Given the description of an element on the screen output the (x, y) to click on. 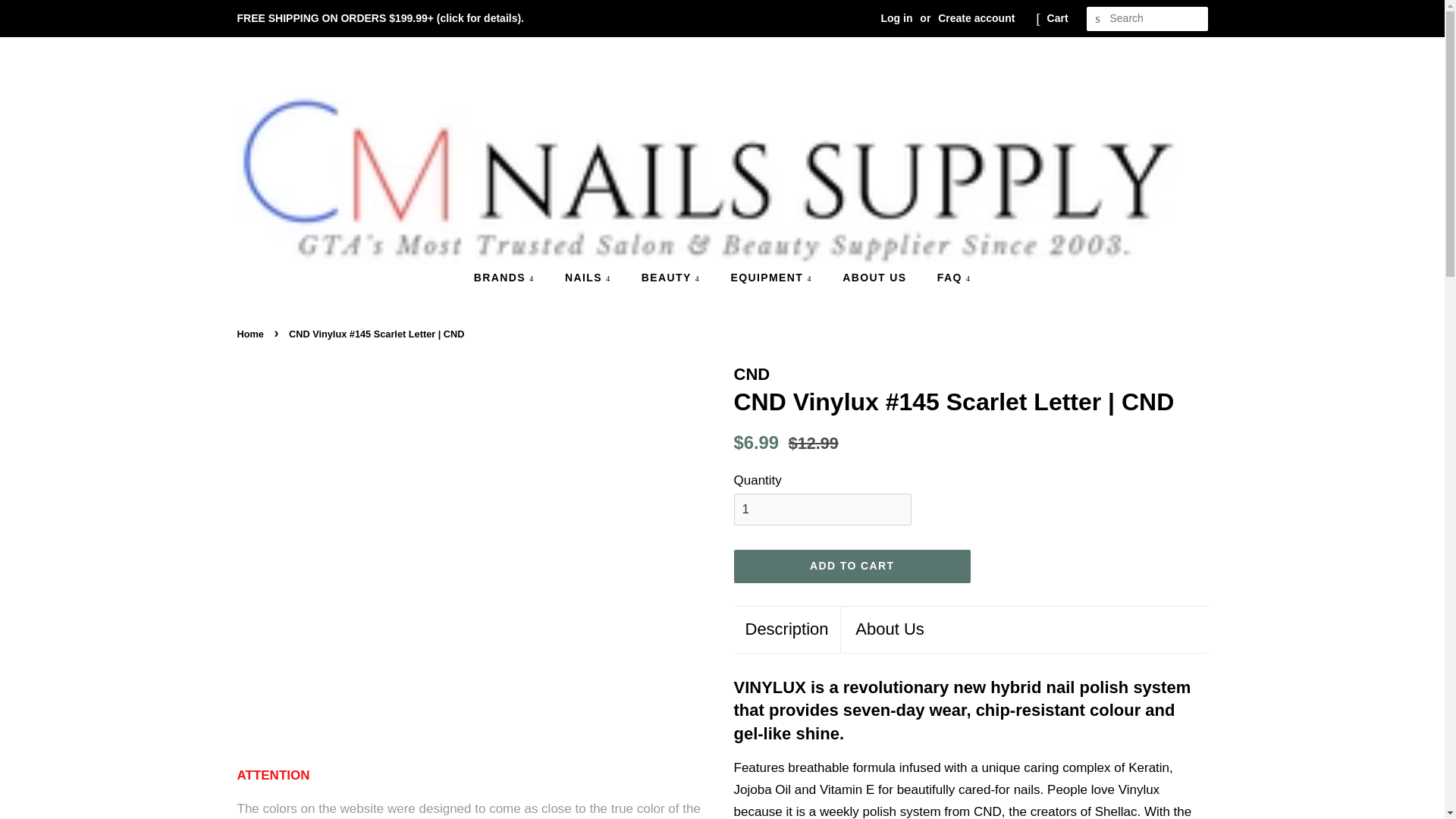
Cart (1057, 18)
SEARCH (1097, 18)
Log in (896, 18)
Back to the frontpage (250, 333)
Create account (975, 18)
1 (822, 509)
